Given the description of an element on the screen output the (x, y) to click on. 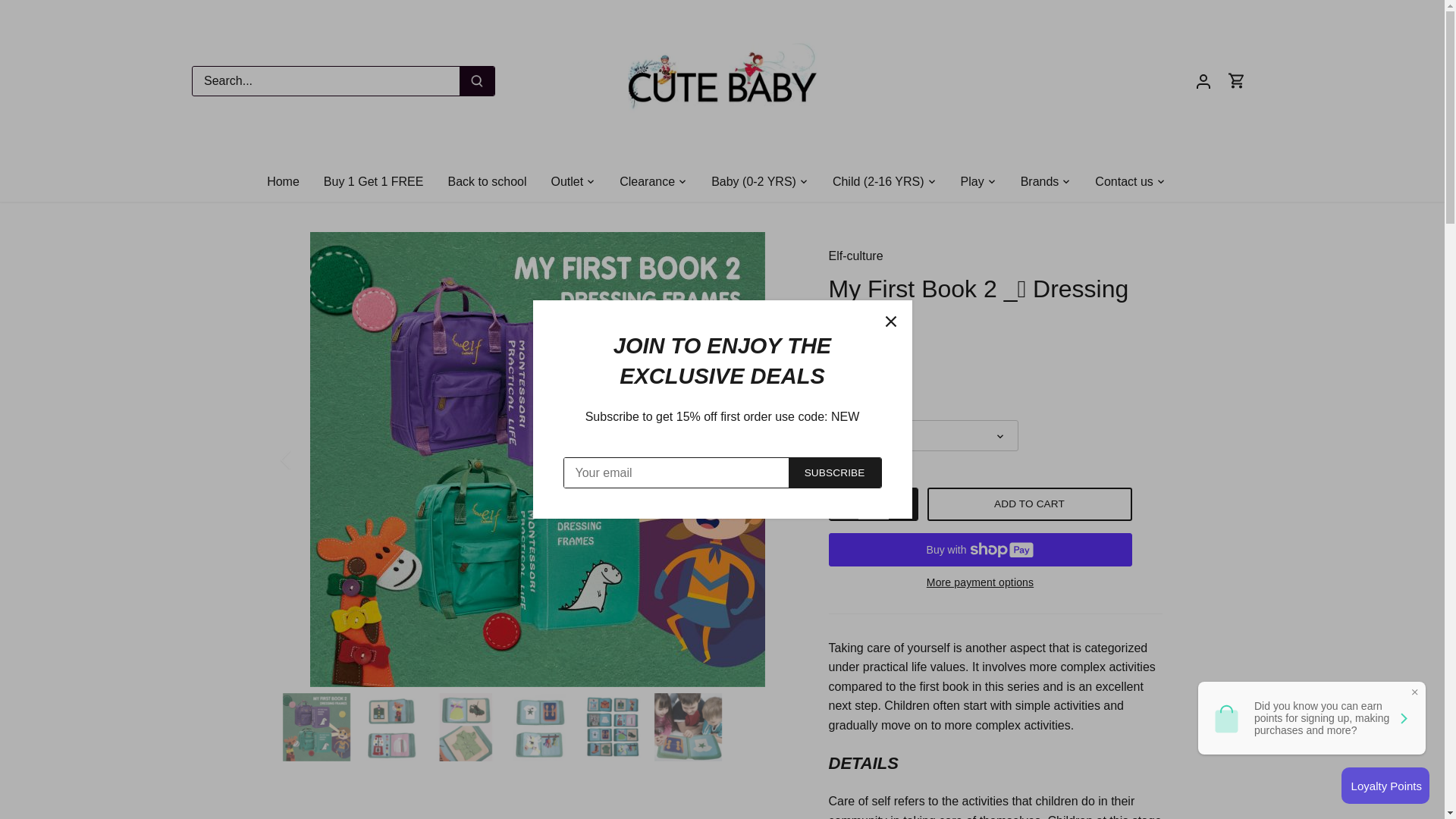
Home (288, 181)
1 (873, 504)
Buy 1 Get 1 FREE (373, 181)
Clearance (647, 181)
Back to school (486, 181)
Outlet (566, 181)
LoyaltyLion beacon (1384, 785)
